Given the description of an element on the screen output the (x, y) to click on. 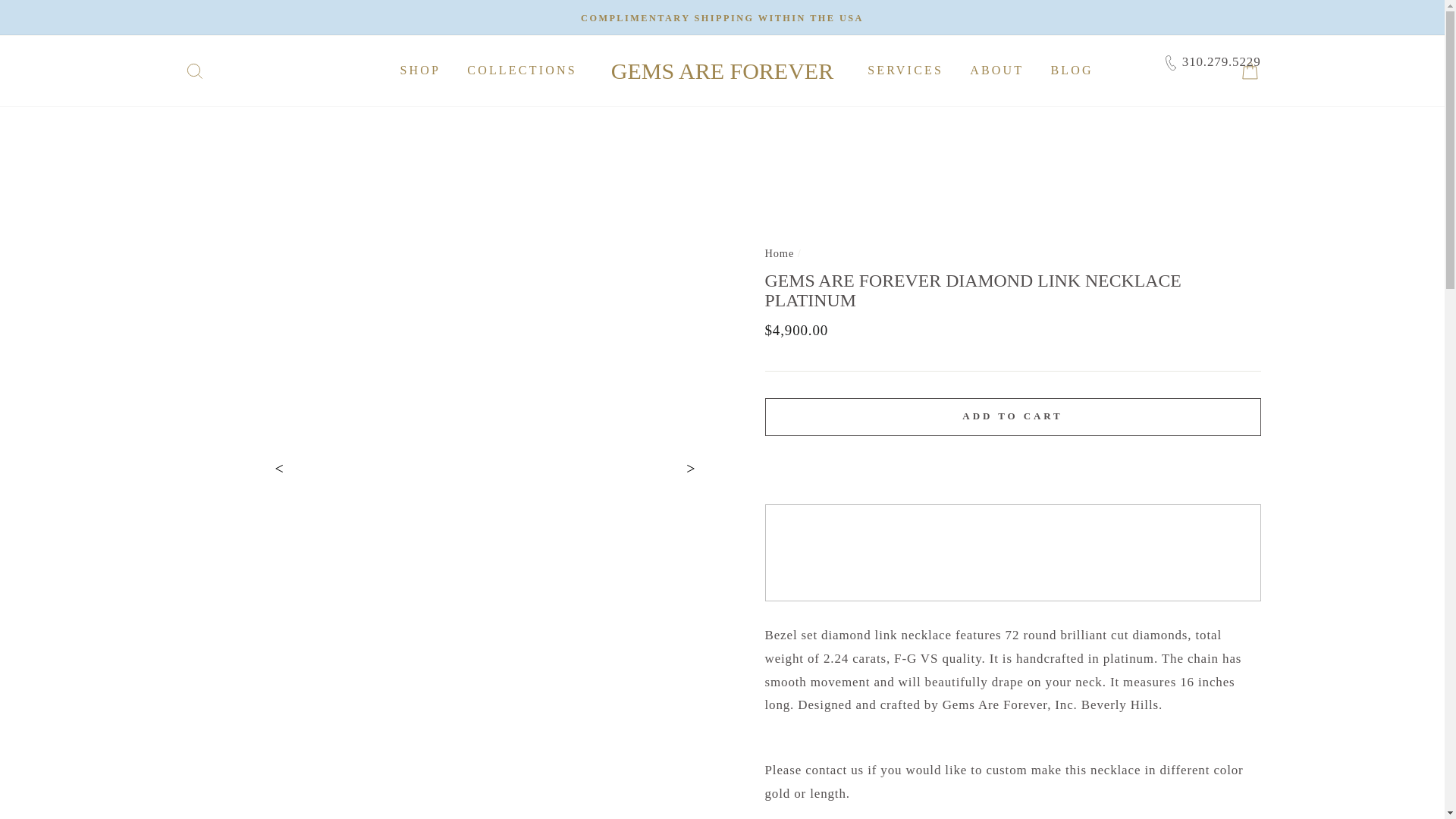
SHOP (419, 70)
Back to the frontpage (778, 253)
SEARCH (194, 70)
